Given the description of an element on the screen output the (x, y) to click on. 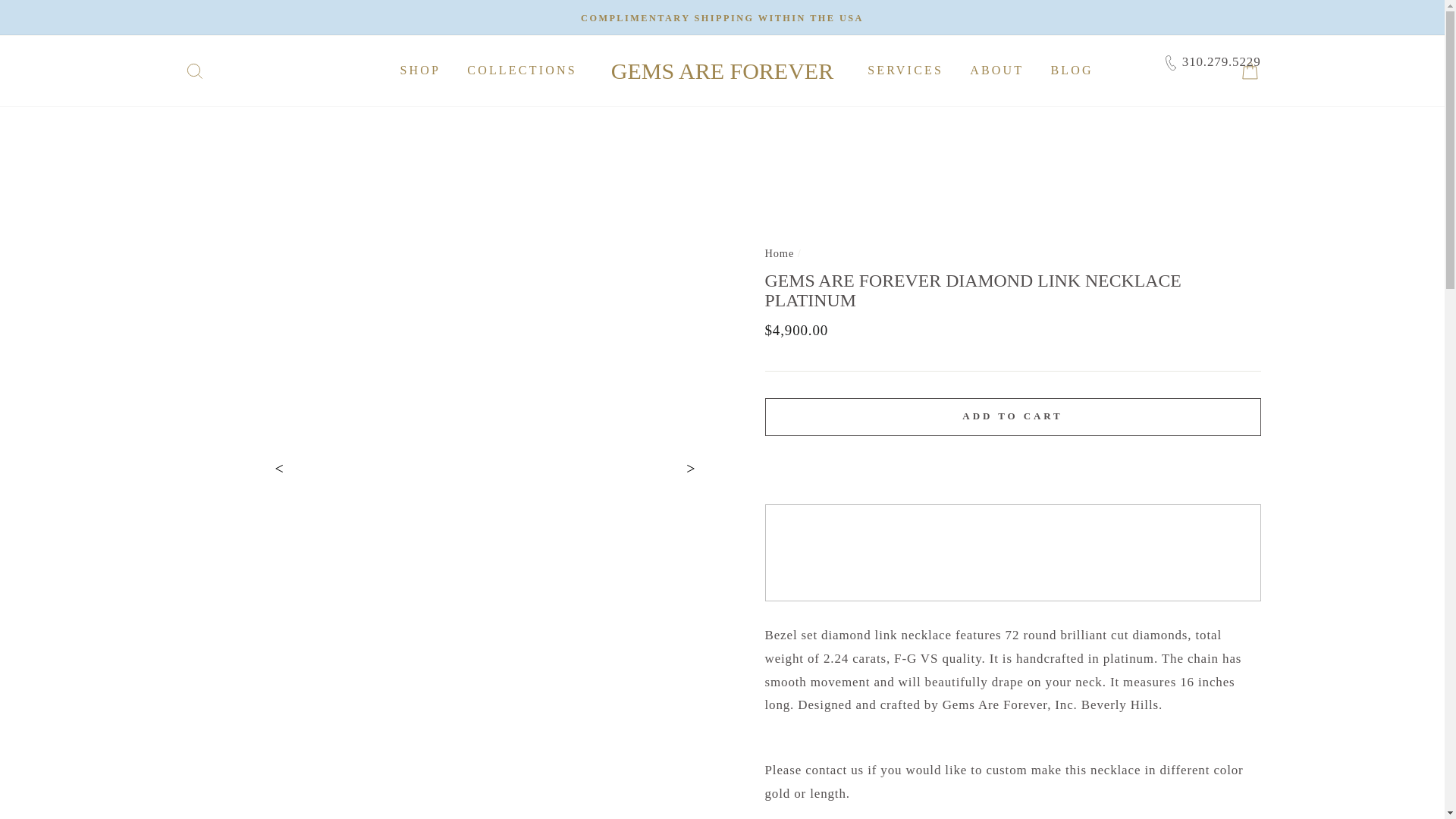
SHOP (419, 70)
Back to the frontpage (778, 253)
SEARCH (194, 70)
